Given the description of an element on the screen output the (x, y) to click on. 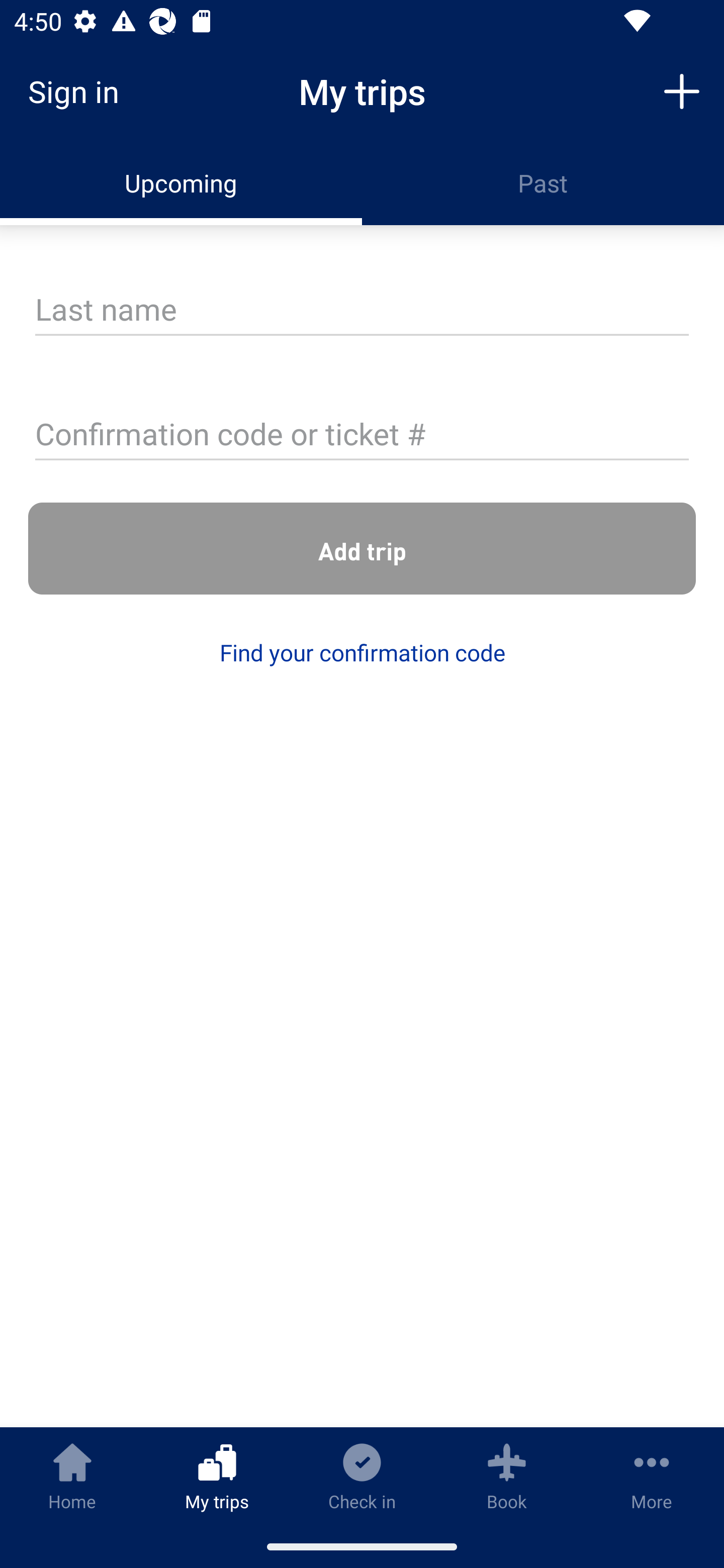
Sign in (80, 91)
Add trip (681, 90)
Past (543, 183)
Last name (361, 310)
Confirmation code or ticket # (361, 435)
Add trip (361, 548)
Home (72, 1475)
Check in (361, 1475)
Book (506, 1475)
More (651, 1475)
